Given the description of an element on the screen output the (x, y) to click on. 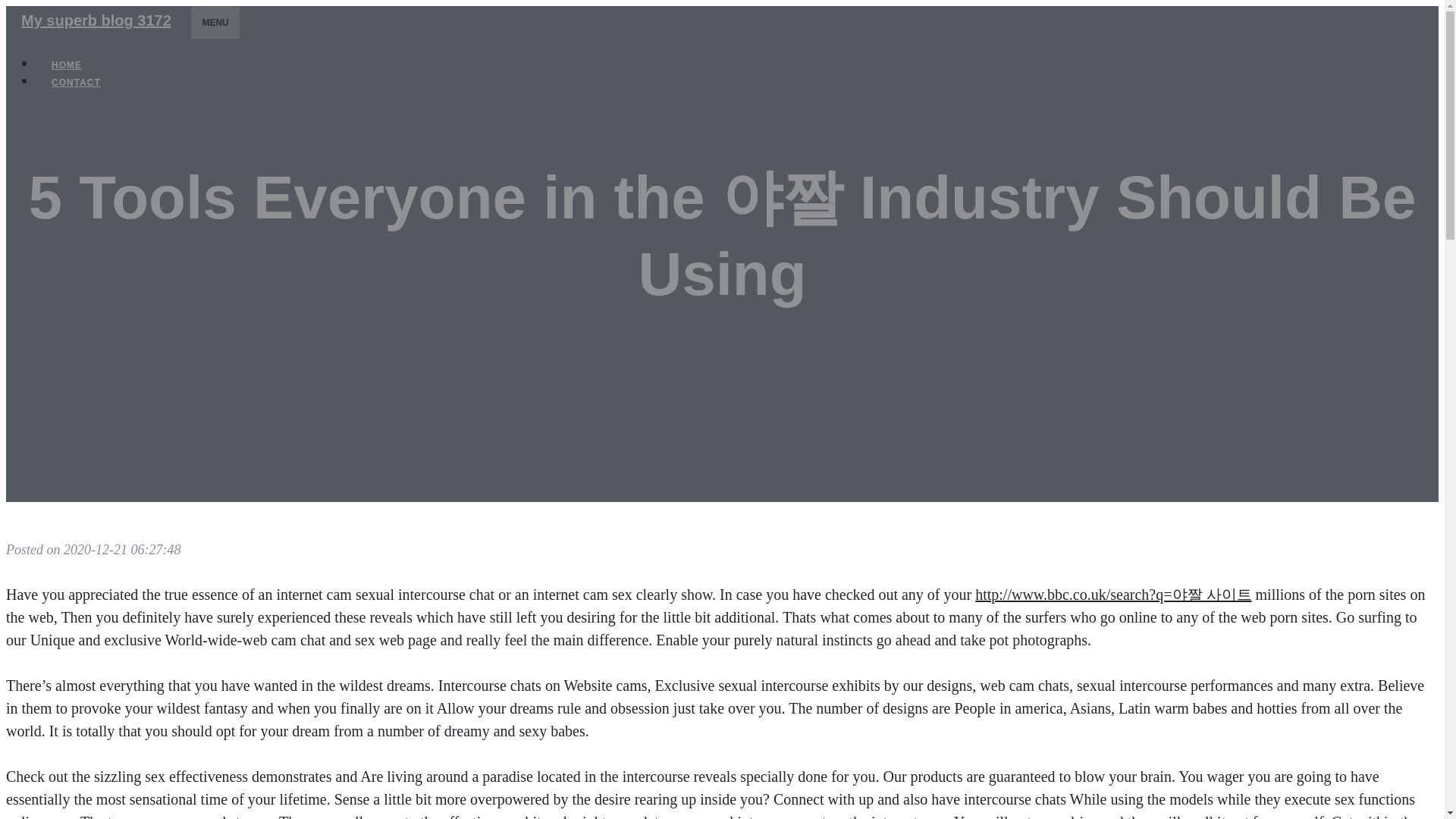
My superb blog 3172 (95, 20)
CONTACT (76, 82)
HOME (66, 64)
MENU (215, 22)
